Given the description of an element on the screen output the (x, y) to click on. 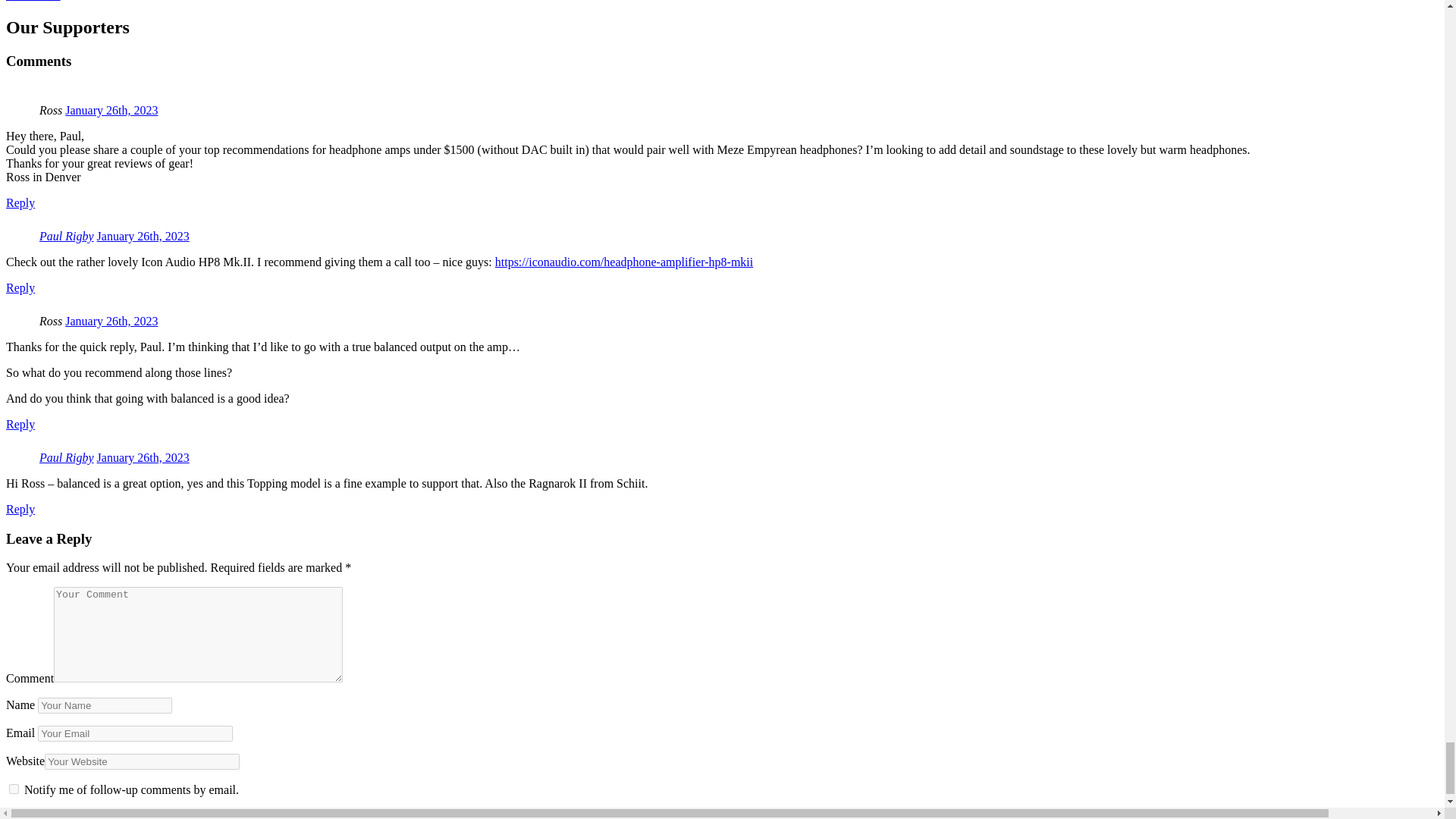
subscribe (13, 788)
